Given the description of an element on the screen output the (x, y) to click on. 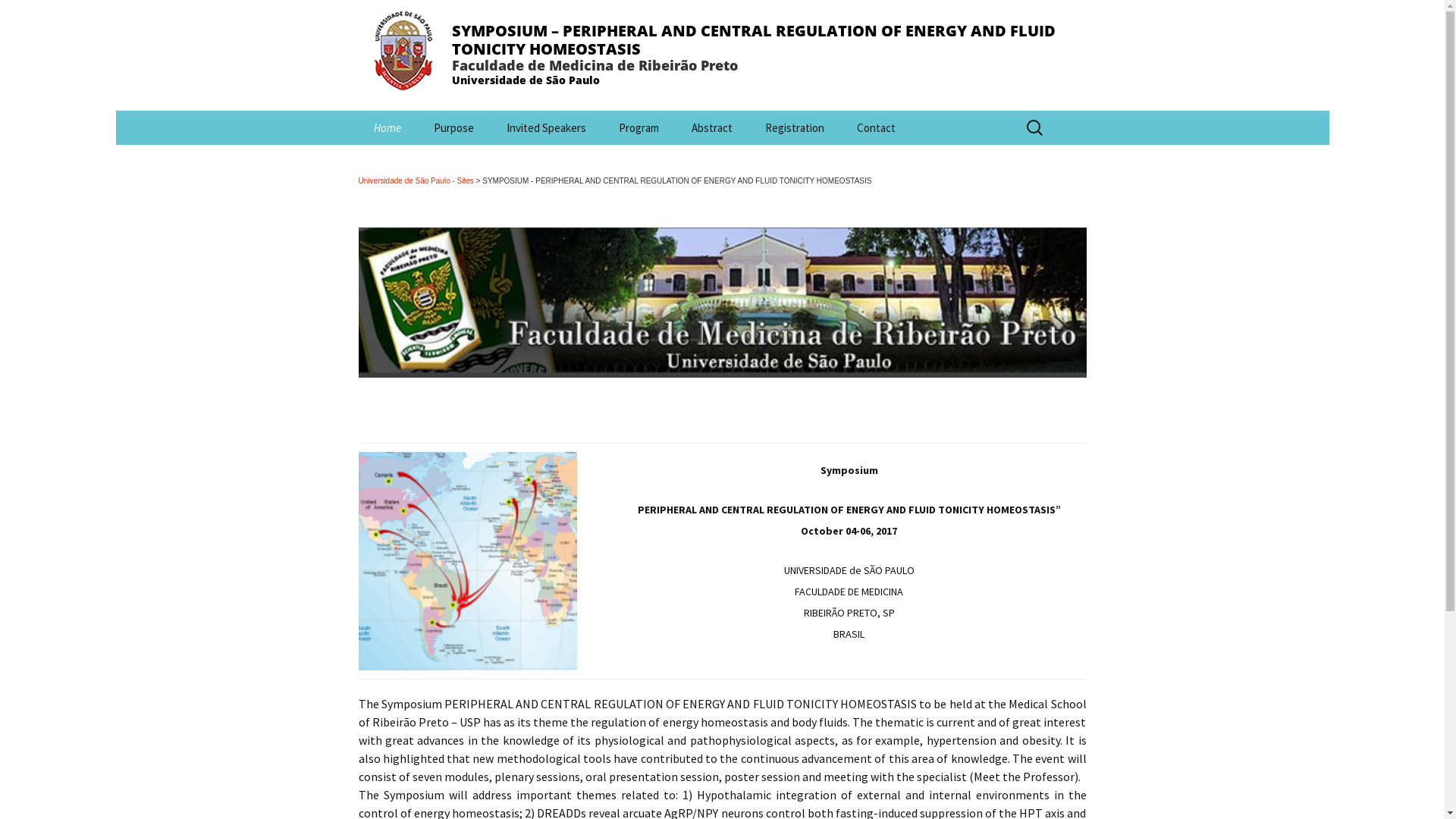
Abstract Element type: text (711, 127)
Contact Element type: text (875, 127)
Program Element type: text (638, 127)
Purpose Element type: text (453, 127)
Pesquisar Element type: text (18, 16)
Home Element type: text (386, 127)
Invited Speakers Element type: text (546, 127)
Registration Element type: text (793, 127)
